Given the description of an element on the screen output the (x, y) to click on. 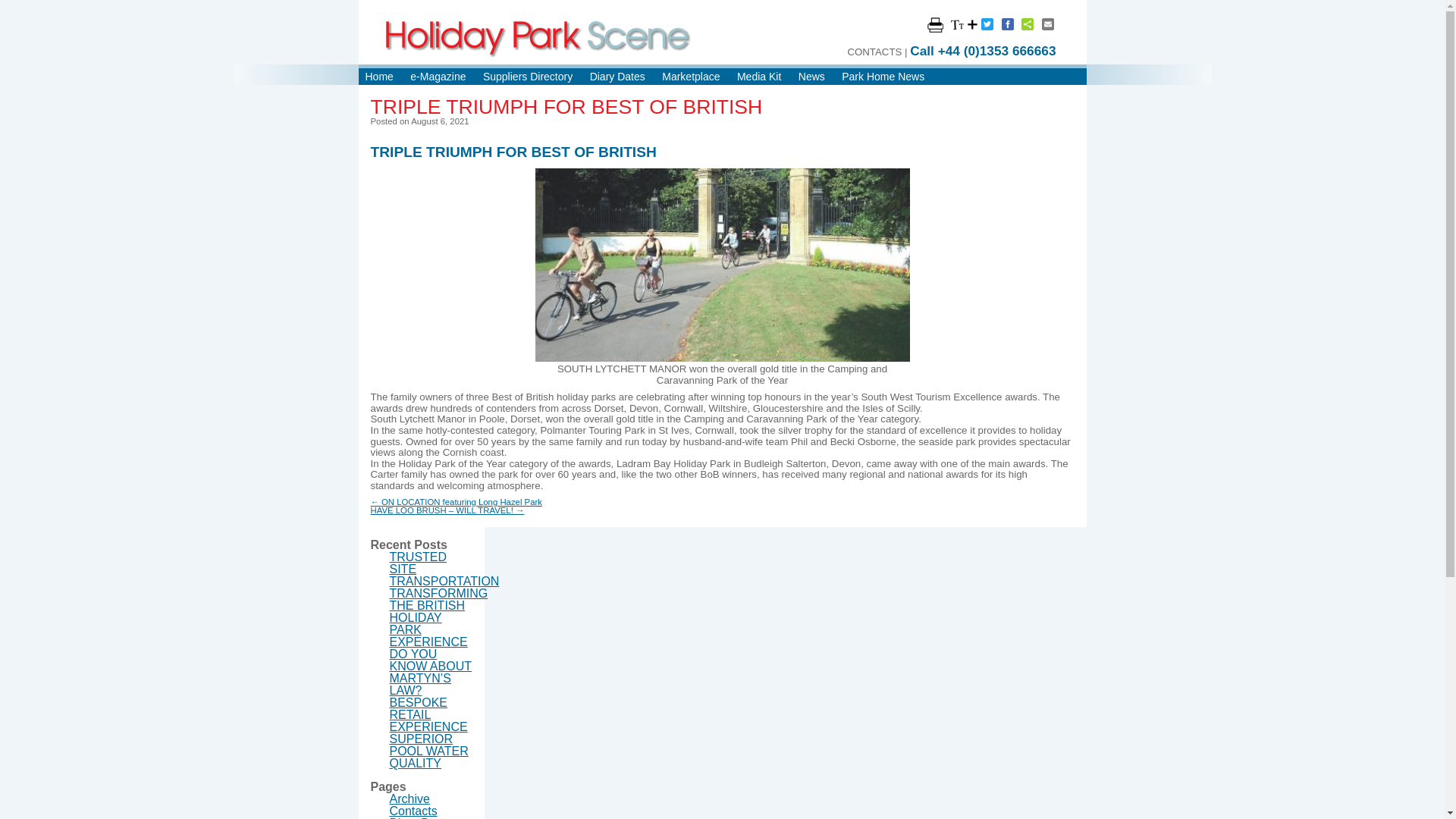
Home (379, 76)
Contacts (414, 810)
TRANSFORMING THE BRITISH HOLIDAY PARK EXPERIENCE (438, 617)
Holiday Park Scene Magazine (538, 38)
News (811, 76)
Media Kit (758, 76)
Suppliers Directory (527, 76)
TRUSTED SITE TRANSPORTATION (444, 569)
CONTACTS (874, 51)
BESPOKE RETAIL EXPERIENCE (428, 714)
